Given the description of an element on the screen output the (x, y) to click on. 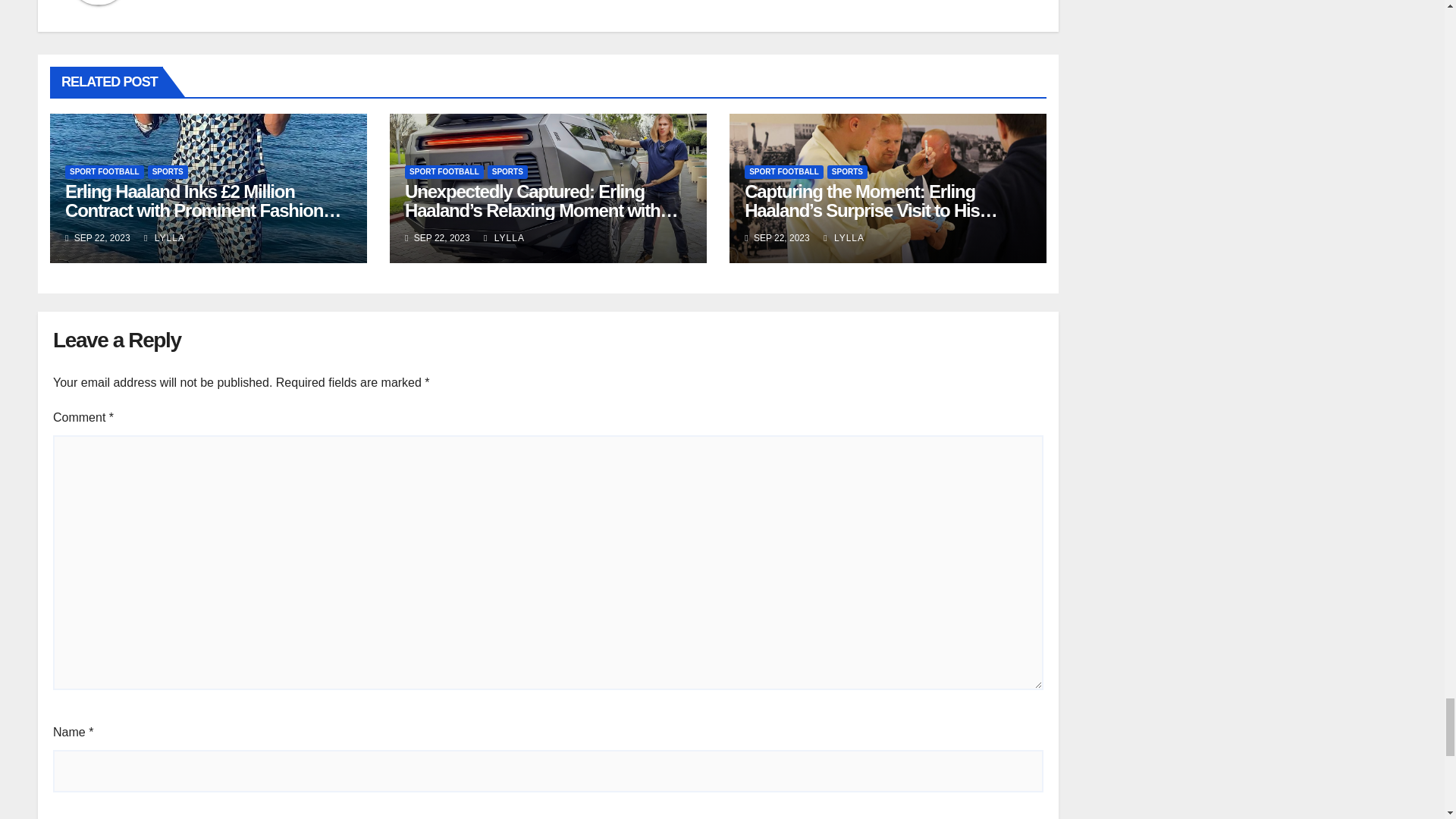
SPORTS (167, 172)
SPORT FOOTBALL (104, 172)
LYLLA (164, 237)
SPORTS (507, 172)
SPORT FOOTBALL (443, 172)
